Given the description of an element on the screen output the (x, y) to click on. 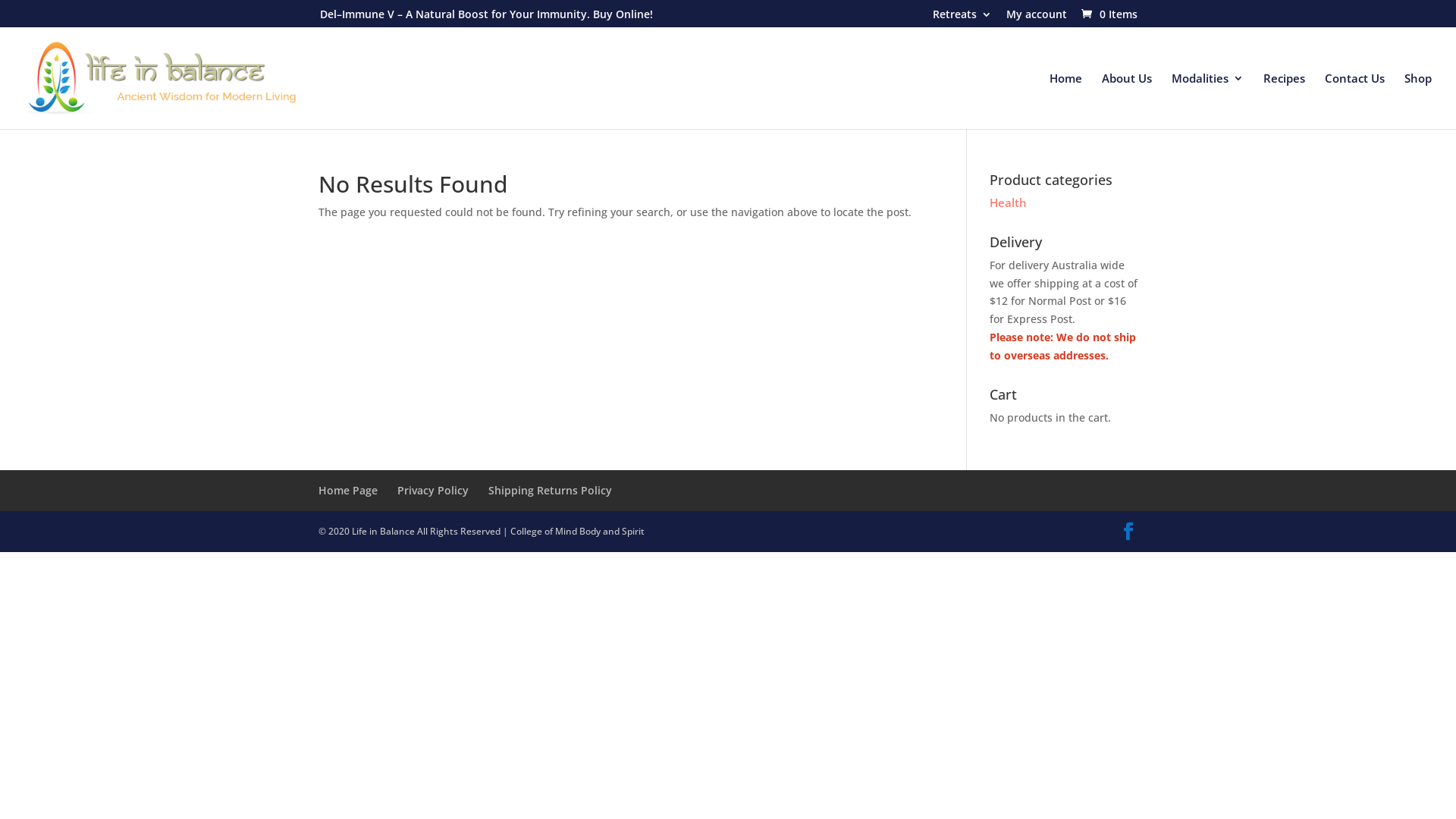
Shipping Returns Policy Element type: text (549, 490)
About Us Element type: text (1126, 100)
Contact Us Element type: text (1354, 100)
Privacy Policy Element type: text (432, 490)
Home Element type: text (1065, 100)
0 Items Element type: text (1107, 13)
Retreats Element type: text (961, 18)
Health Element type: text (1007, 202)
My account Element type: text (1036, 18)
Recipes Element type: text (1284, 100)
Shop Element type: text (1417, 100)
Home Page Element type: text (347, 490)
Modalities Element type: text (1207, 100)
